Given the description of an element on the screen output the (x, y) to click on. 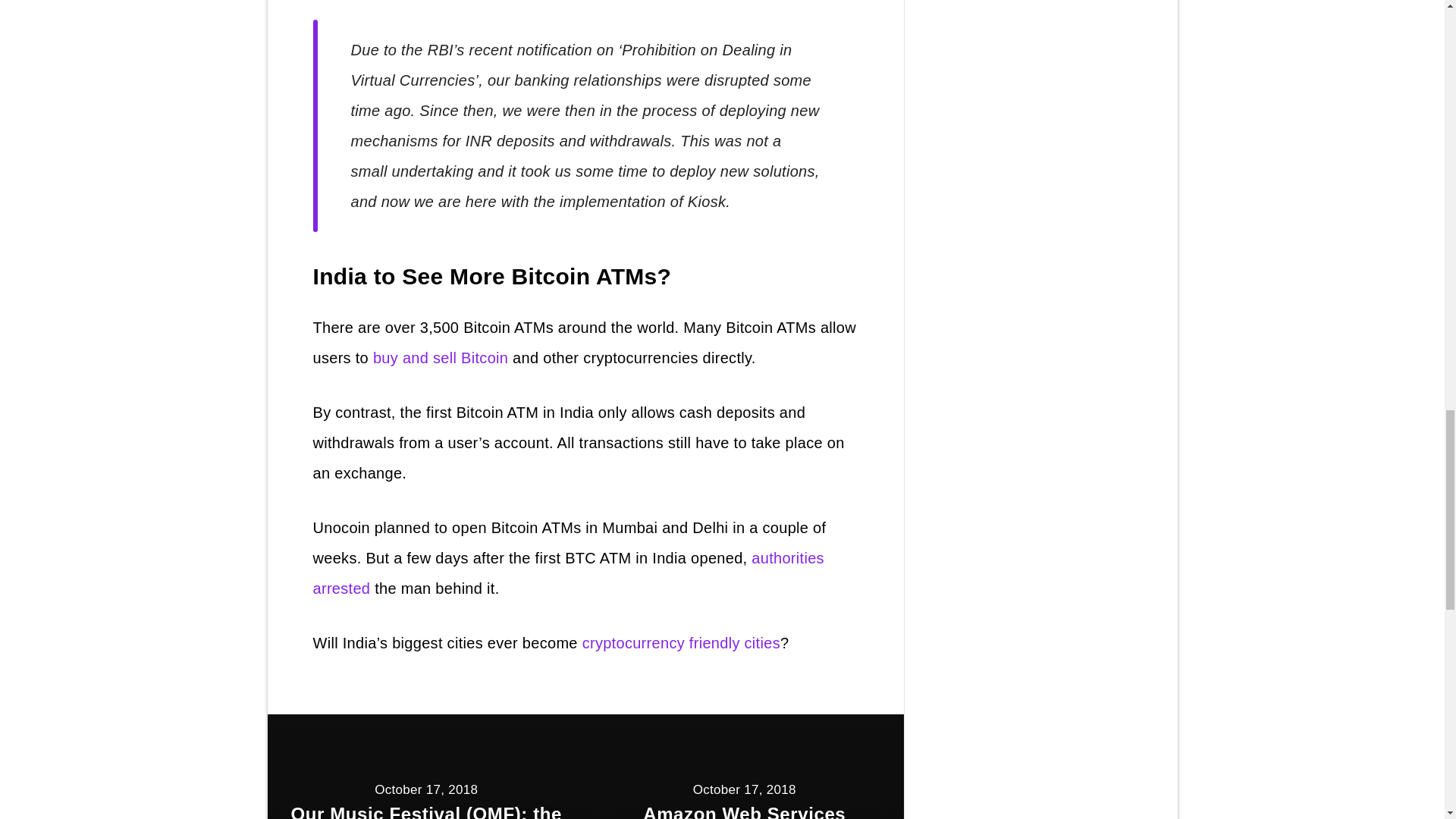
cryptocurrency friendly cities (681, 642)
authorities arrested (568, 573)
buy and sell Bitcoin (440, 357)
